Given the description of an element on the screen output the (x, y) to click on. 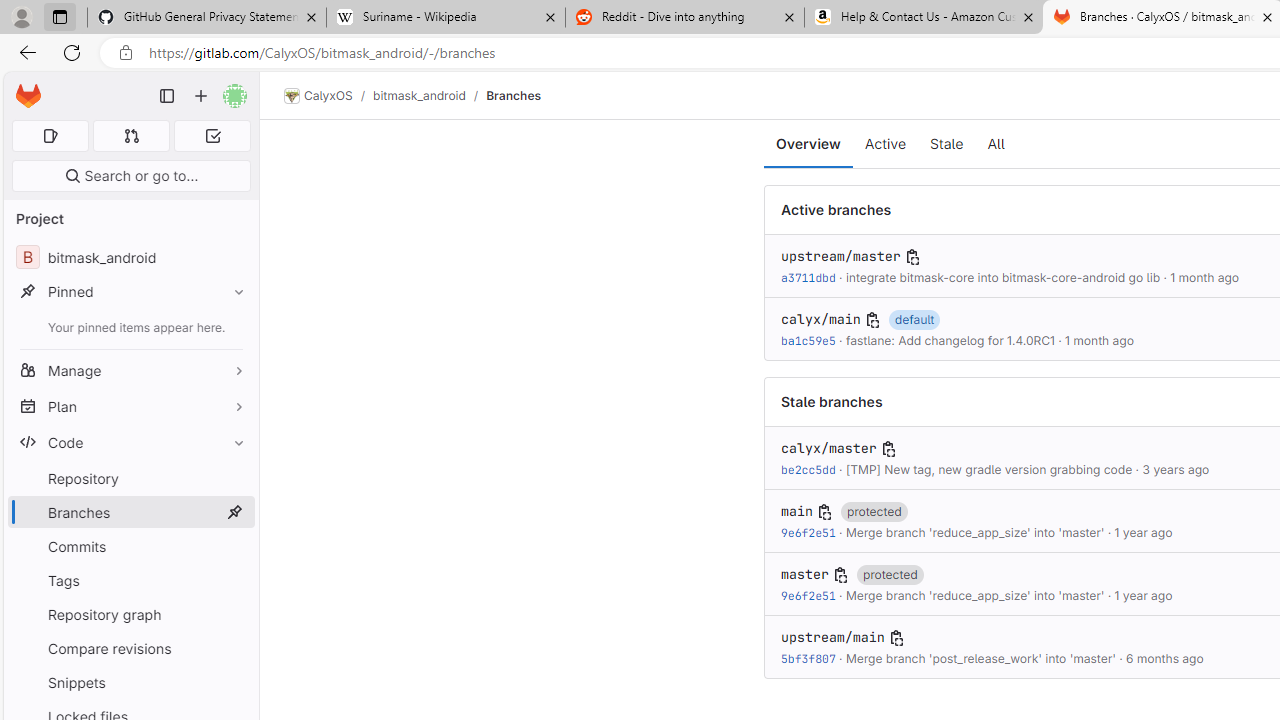
CalyxOS/ (328, 96)
Tags (130, 579)
Repository (130, 478)
Pin Branches (234, 511)
B bitmask_android (130, 257)
Tab actions menu (59, 16)
Merge branch 'post_release_work' into 'master' (980, 658)
bitmask_android (418, 95)
Suriname - Wikipedia (445, 17)
Class: s16 gl-icon gl-button-icon  (896, 637)
main (796, 511)
Plan (130, 406)
upstream/main (832, 637)
Active (885, 143)
